Given the description of an element on the screen output the (x, y) to click on. 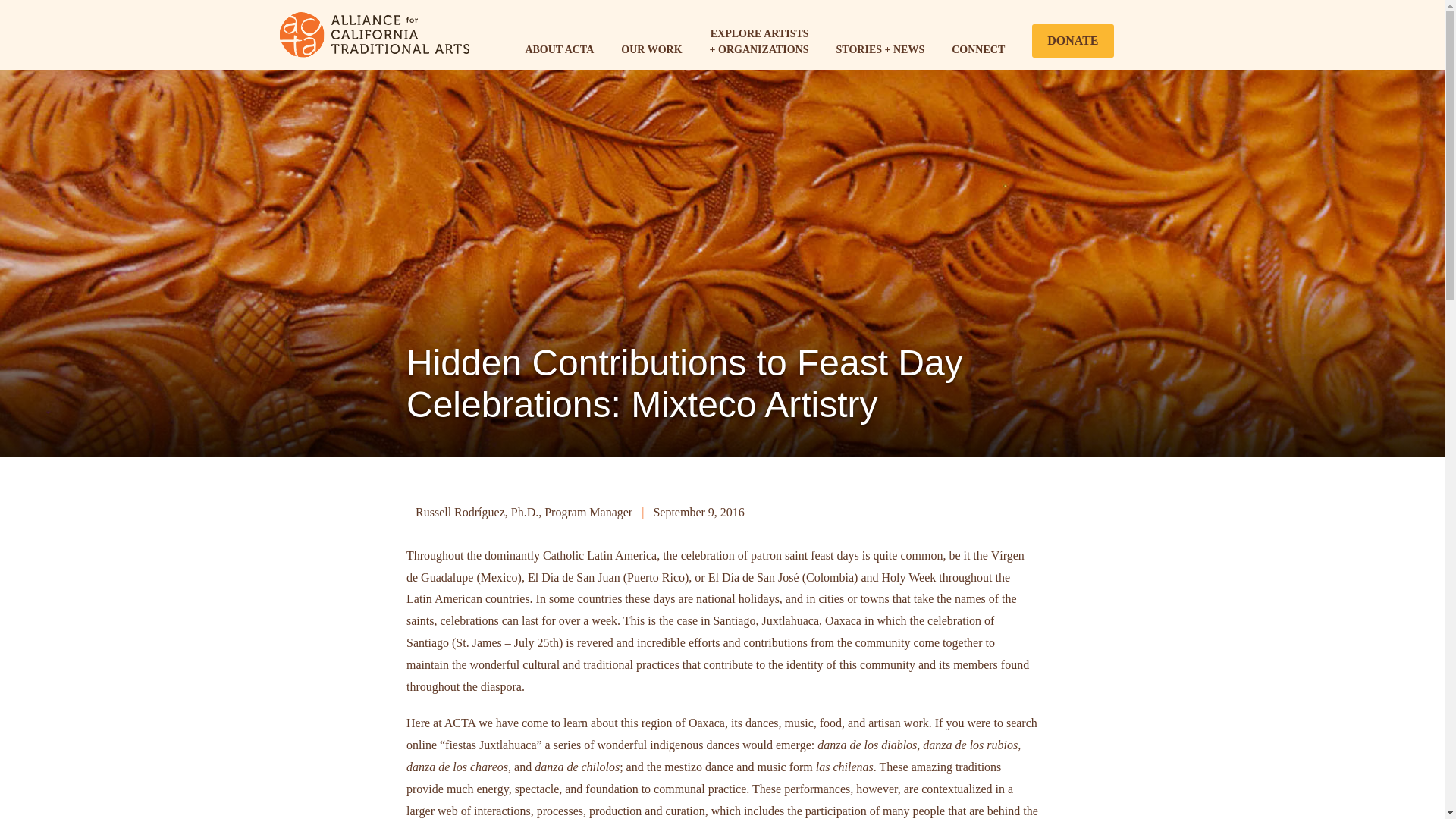
DONATE (1072, 40)
Home (373, 33)
CONNECT (978, 49)
Skip to main content (644, 3)
ABOUT ACTA (559, 49)
OUR WORK (651, 49)
SEARCH (1146, 39)
